Given the description of an element on the screen output the (x, y) to click on. 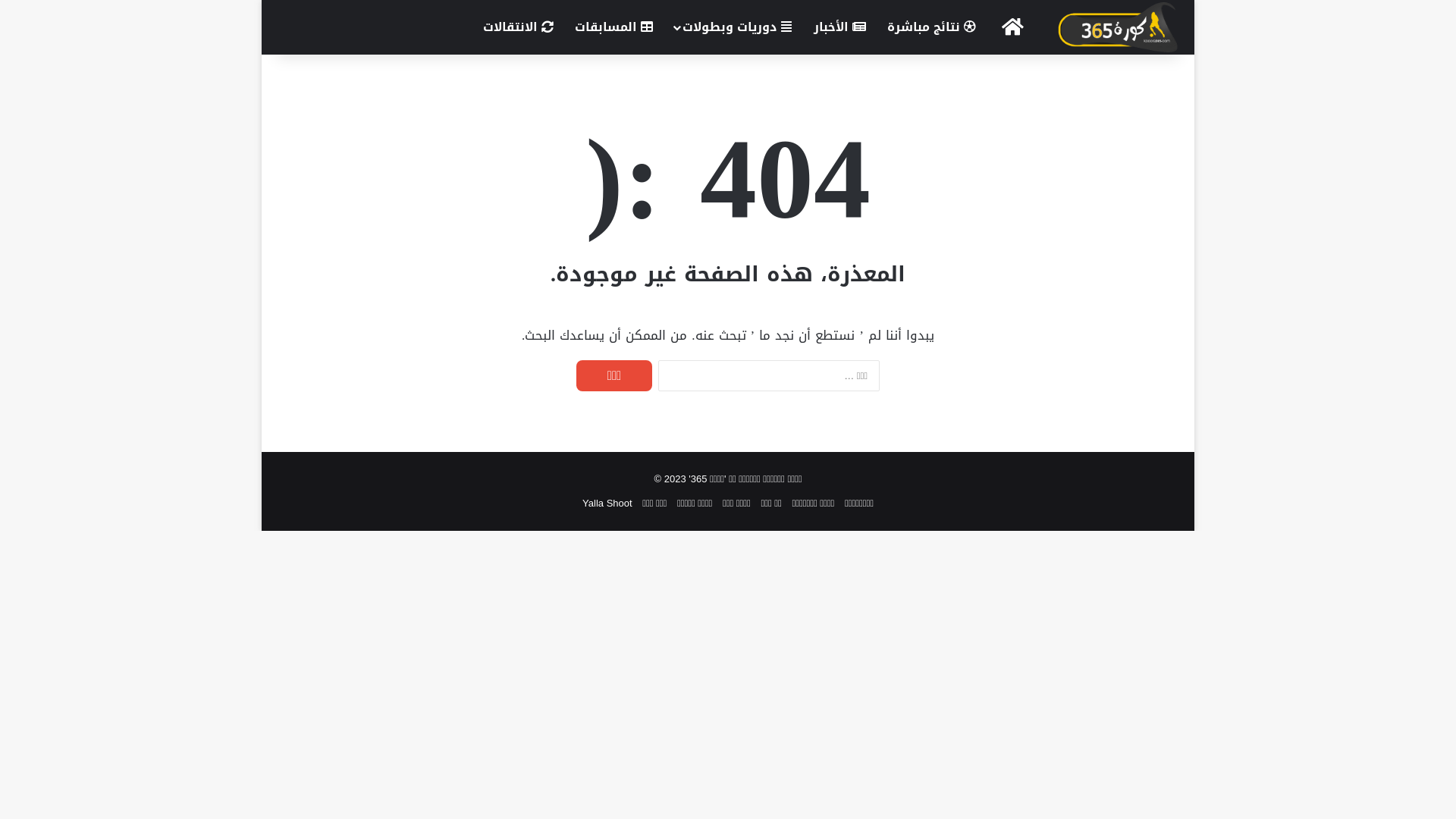
Yalla Shoot Element type: text (607, 502)
